Given the description of an element on the screen output the (x, y) to click on. 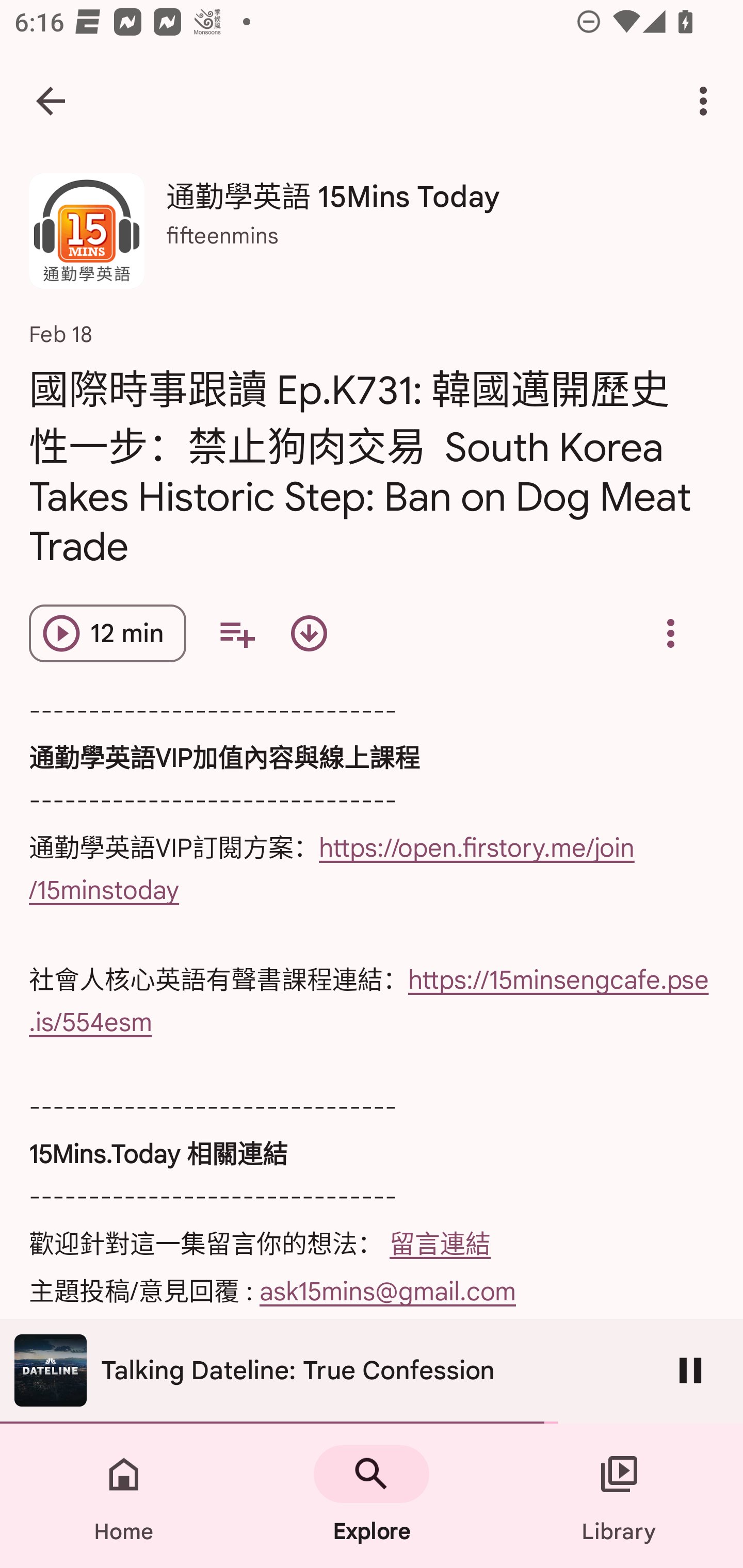
Navigate up (50, 101)
More options (706, 101)
通勤學英語 15Mins Today 通勤學英語 15Mins Today fifteenmins (371, 238)
Add to your queue (236, 633)
Download episode (308, 633)
Overflow menu (670, 633)
Pause (690, 1370)
Home (123, 1495)
Library (619, 1495)
